Given the description of an element on the screen output the (x, y) to click on. 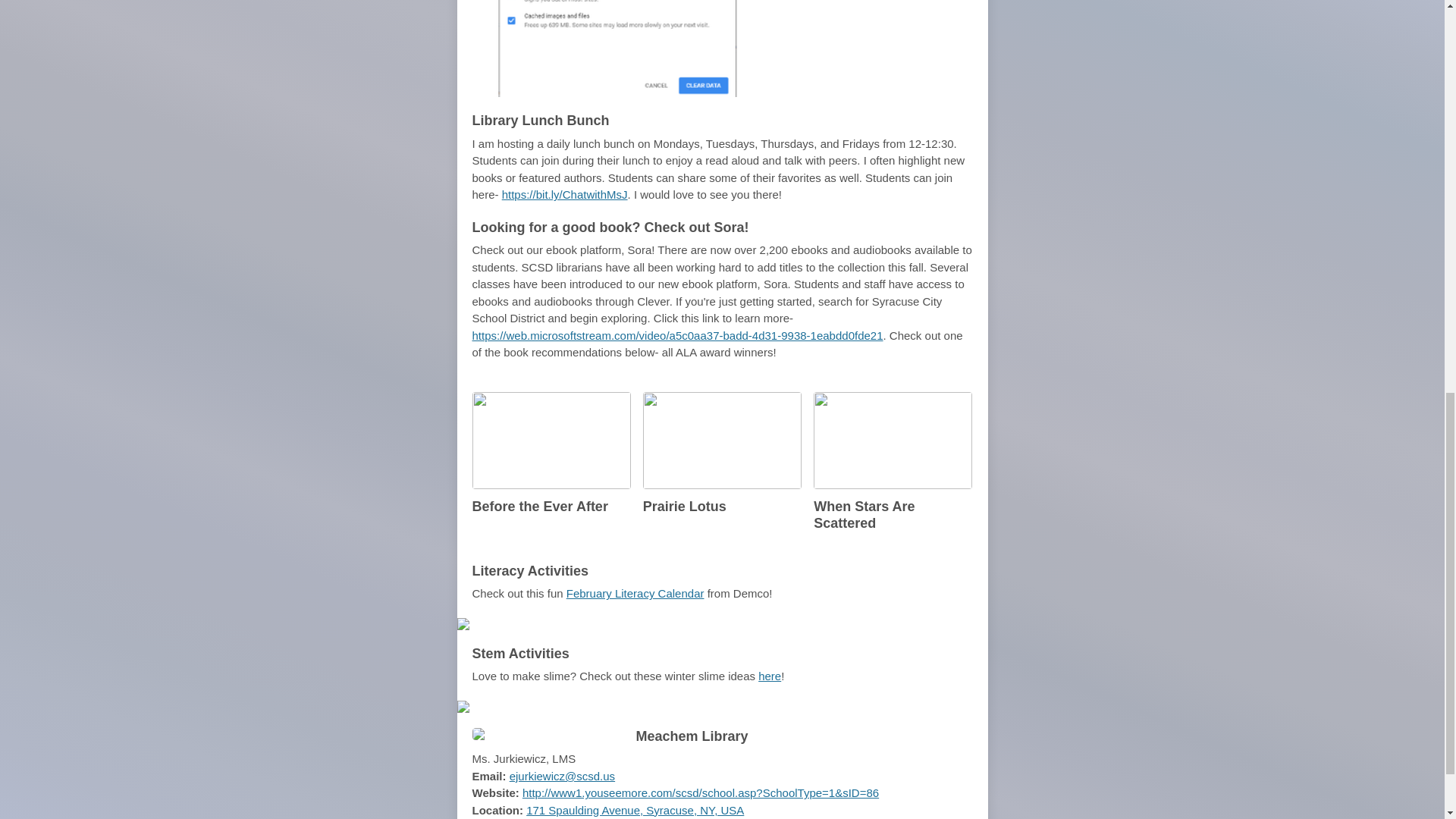
171 Spaulding Avenue, Syracuse, NY, USA (634, 809)
here (769, 675)
February Literacy Calendar (635, 593)
